Given the description of an element on the screen output the (x, y) to click on. 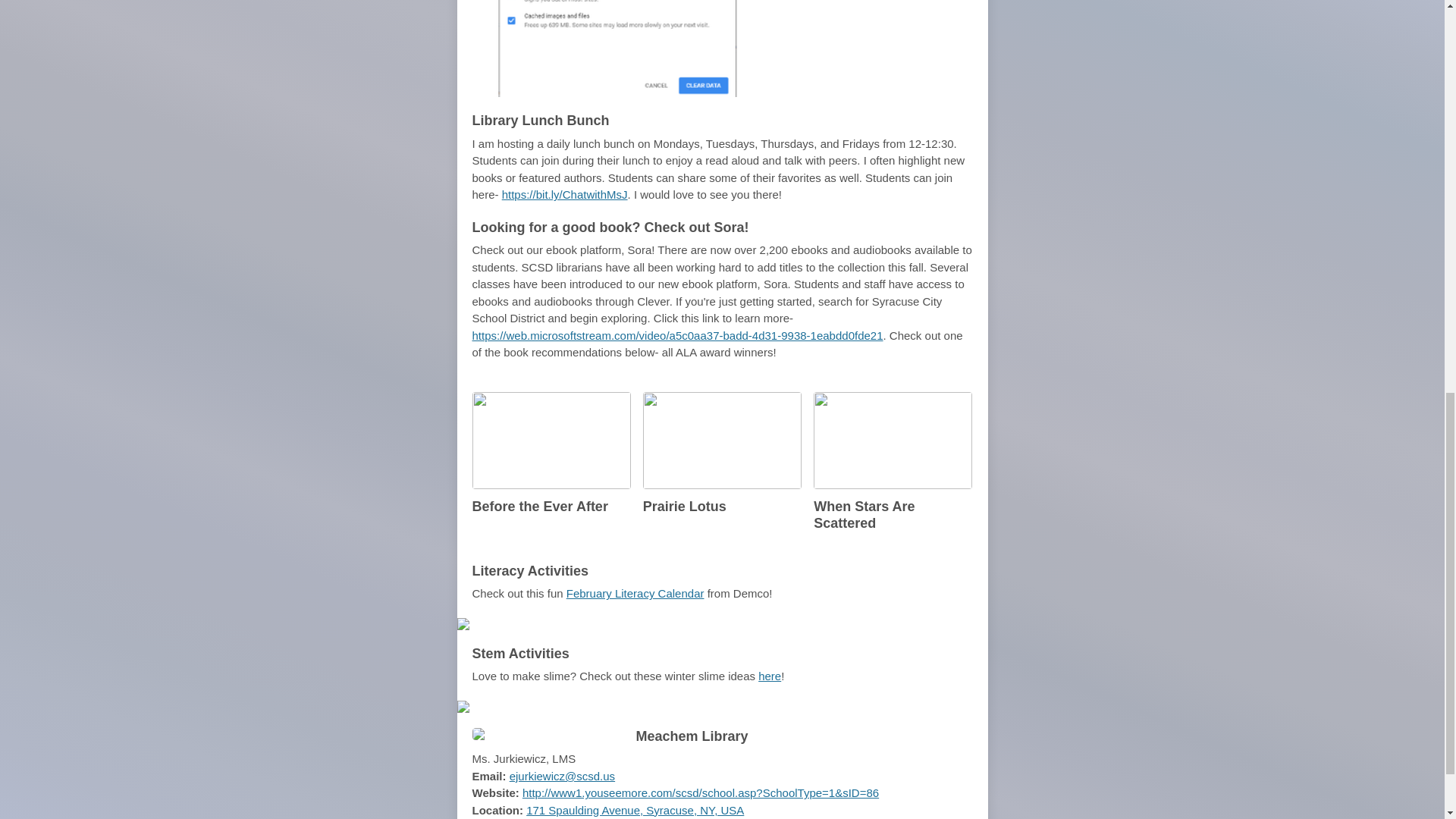
171 Spaulding Avenue, Syracuse, NY, USA (634, 809)
here (769, 675)
February Literacy Calendar (635, 593)
